Given the description of an element on the screen output the (x, y) to click on. 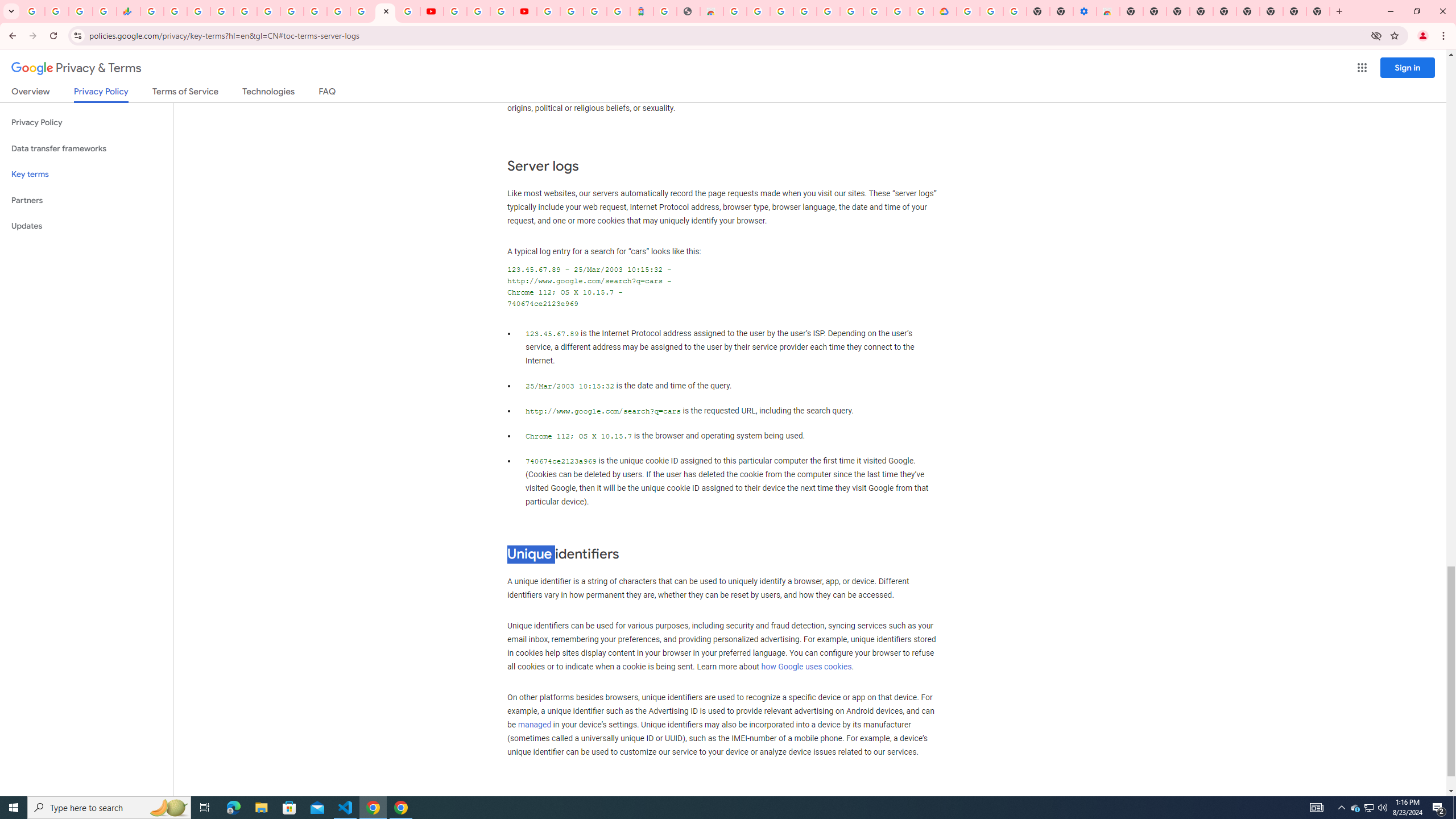
New Tab (1318, 11)
YouTube (454, 11)
Sign in - Google Accounts (338, 11)
Partners (86, 199)
Sign in - Google Accounts (221, 11)
